Given the description of an element on the screen output the (x, y) to click on. 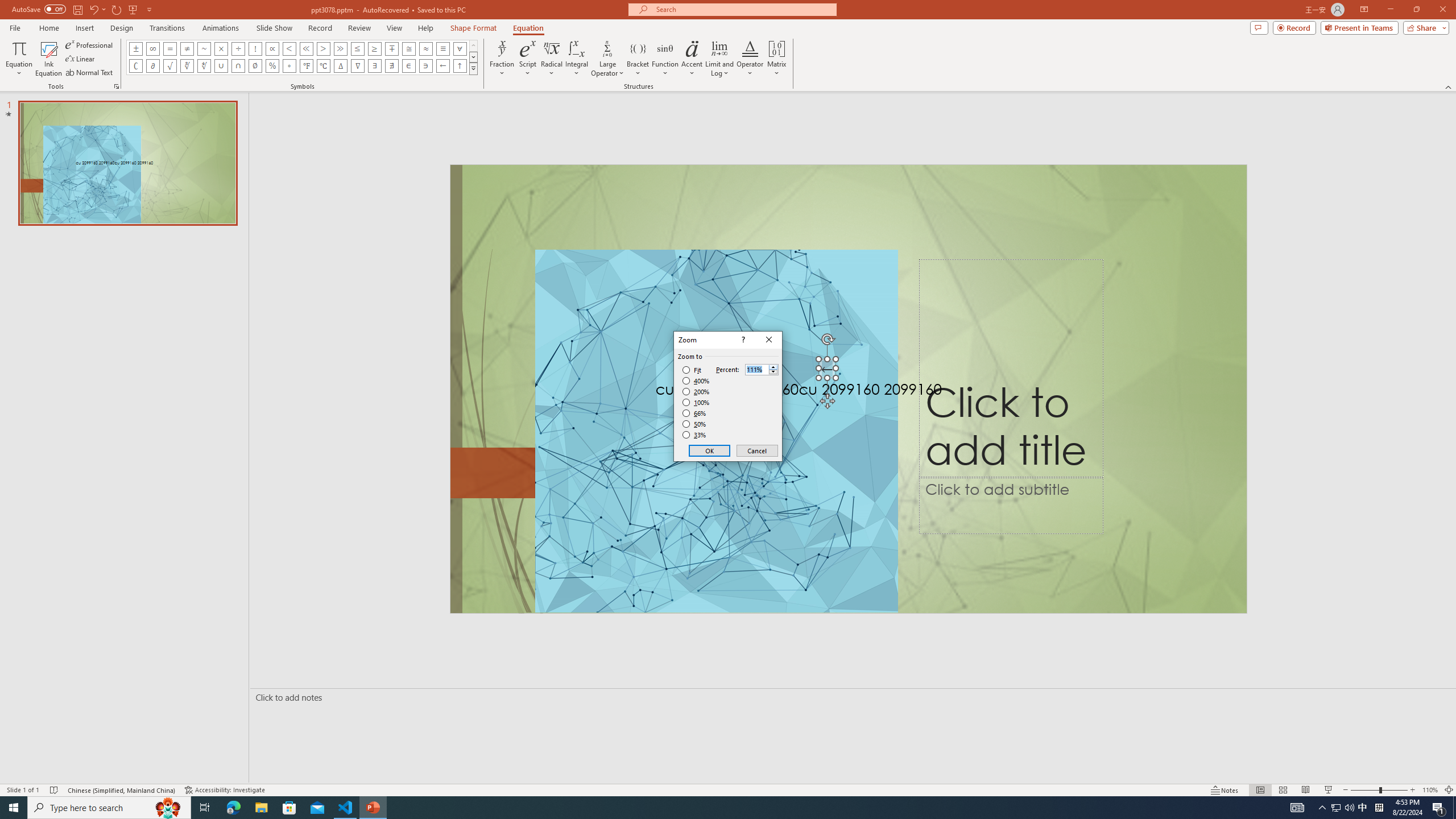
Equation Symbol Approximately Equal To (408, 48)
Equation Symbol Almost Equal To (Asymptotic To) (425, 48)
Integral (576, 58)
Equation Symbol Intersection (238, 65)
Fraction (502, 58)
Fit (691, 370)
Matrix (776, 58)
OK (709, 450)
Script (527, 58)
Equation Symbol Infinity (152, 48)
Equation Symbol Division Sign (238, 48)
